Given the description of an element on the screen output the (x, y) to click on. 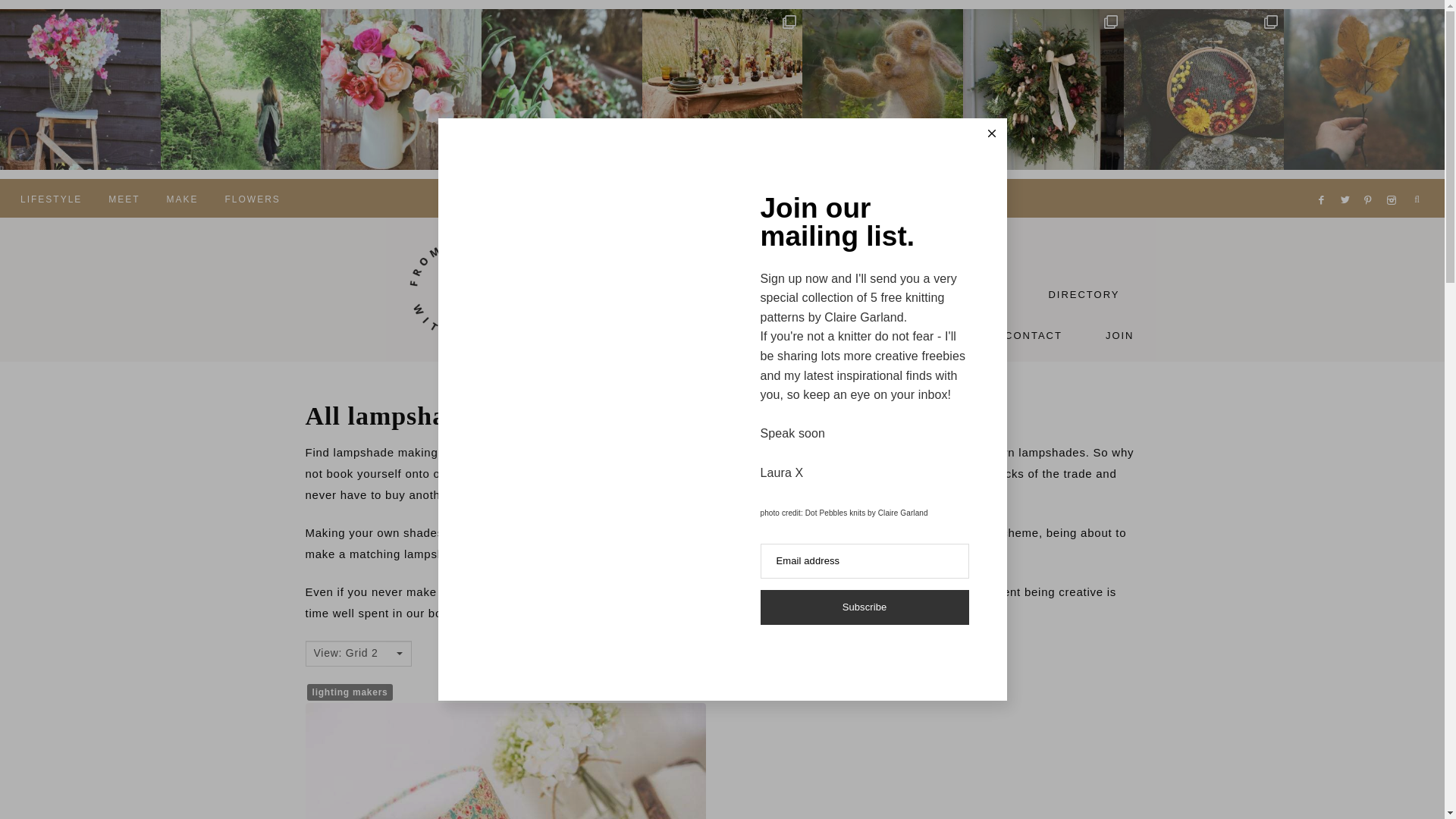
lolly-and-boo2 (504, 760)
Twitter (1348, 181)
FLOWERS (251, 198)
LIFESTYLE (50, 198)
View: Grid 2 (353, 653)
Instagram (1393, 181)
Facebook (1324, 181)
MEET (124, 198)
Pinterest (1371, 181)
lighting makers (350, 691)
MAKE (182, 198)
